Given the description of an element on the screen output the (x, y) to click on. 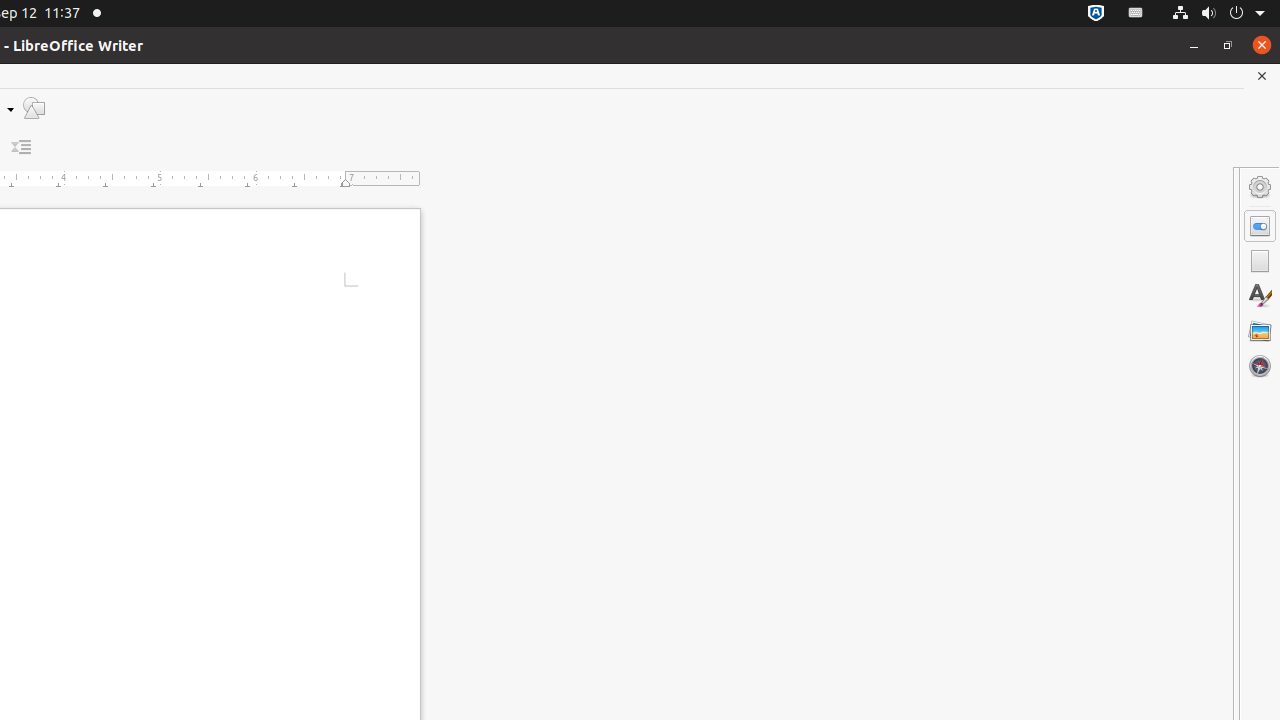
Styles Element type: radio-button (1260, 296)
Decrease Element type: push-button (21, 147)
:1.72/StatusNotifierItem Element type: menu (1096, 13)
Properties Element type: radio-button (1260, 226)
Page Element type: radio-button (1260, 261)
